Given the description of an element on the screen output the (x, y) to click on. 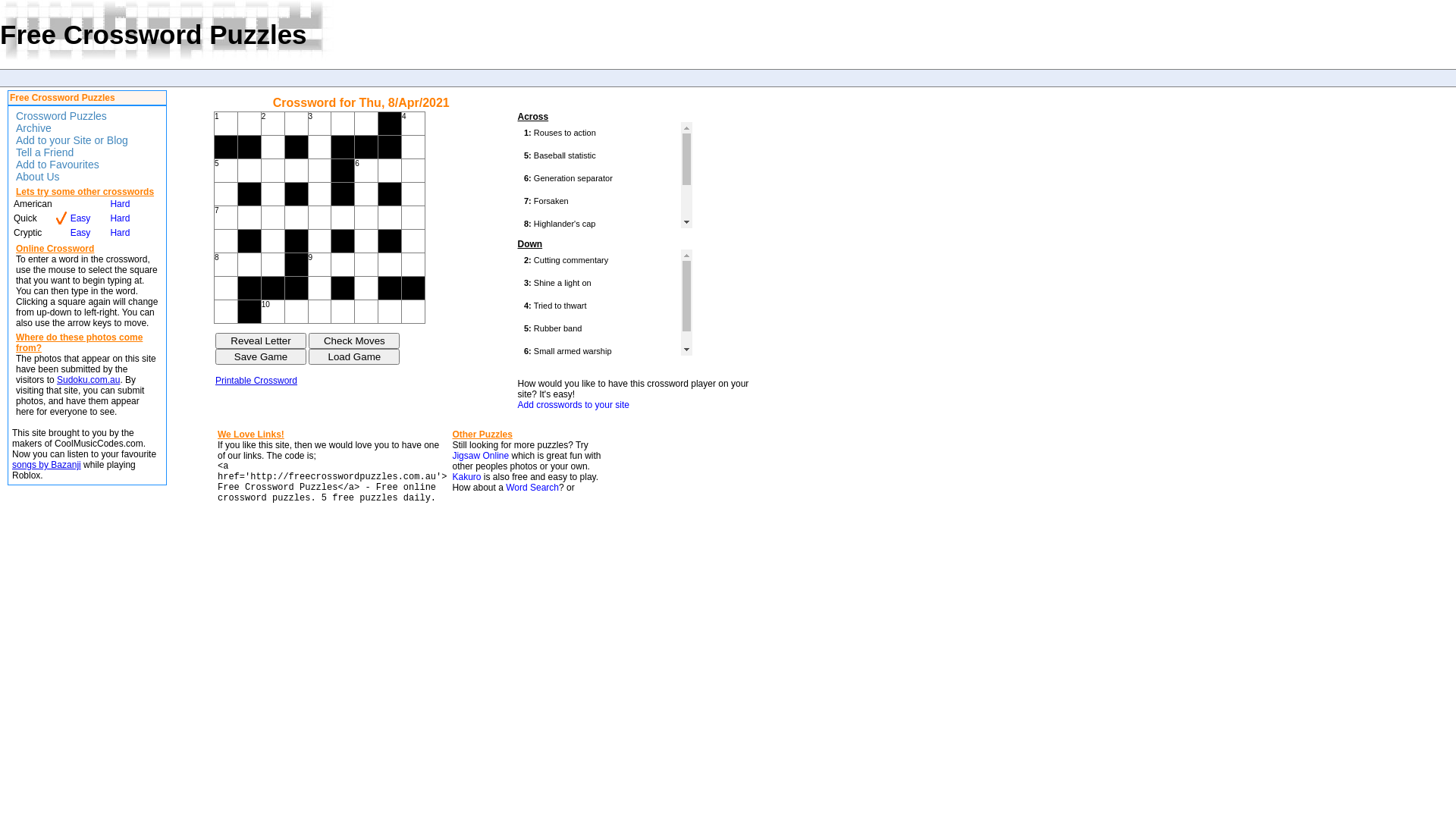
Hard Element type: text (119, 232)
Printable Crossword Element type: text (256, 380)
Crossword Puzzles Element type: text (59, 115)
About Us Element type: text (35, 176)
Reveals the letter at this position Element type: hover (260, 340)
Easy Element type: text (80, 232)
Tell a Friend Element type: text (42, 152)
Hard Element type: text (119, 203)
Hard Element type: text (119, 218)
Add to Favourites Element type: text (55, 164)
Load Game Element type: text (353, 356)
Kakuro Element type: text (465, 476)
Add to your Site or Blog Element type: text (70, 140)
Easy Element type: text (80, 218)
Load a saved game for this day and skill level. Element type: hover (353, 356)
songs by Bazanji Element type: text (46, 464)
Archive Element type: text (31, 128)
Reveal Letter Element type: text (260, 340)
Word Search Element type: text (531, 487)
Add crosswords to your site Element type: text (572, 404)
Save the current state of this game. Element type: hover (260, 356)
Jigsaw Online Element type: text (479, 455)
Sudoku.com.au Element type: text (87, 379)
Save Game Element type: text (260, 356)
Incorrect moves will be hightlighted in red. Element type: hover (353, 340)
Check Moves Element type: text (353, 340)
